Given the description of an element on the screen output the (x, y) to click on. 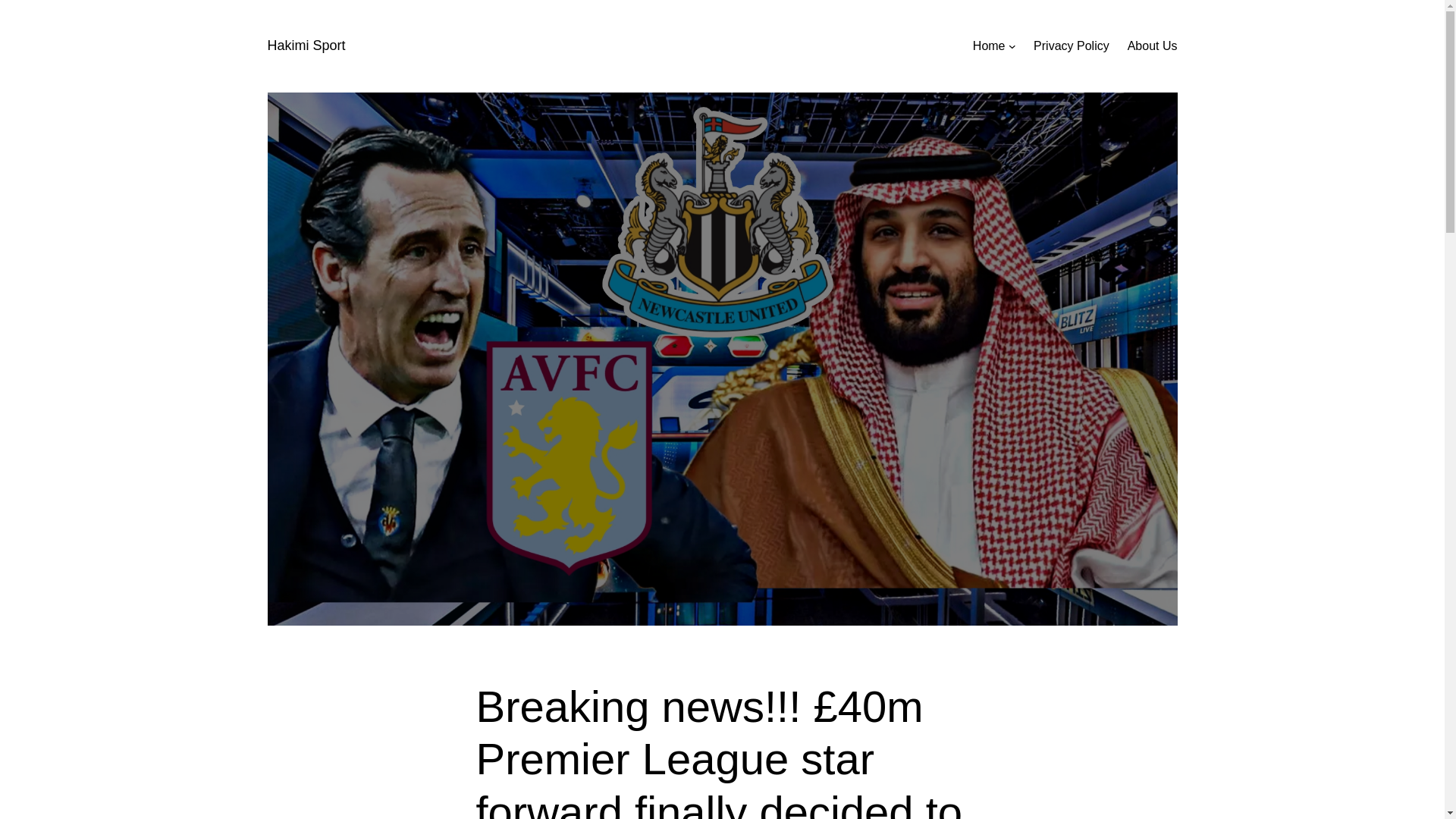
Privacy Policy (1071, 46)
Home (989, 46)
Hakimi Sport (305, 45)
About Us (1151, 46)
